Given the description of an element on the screen output the (x, y) to click on. 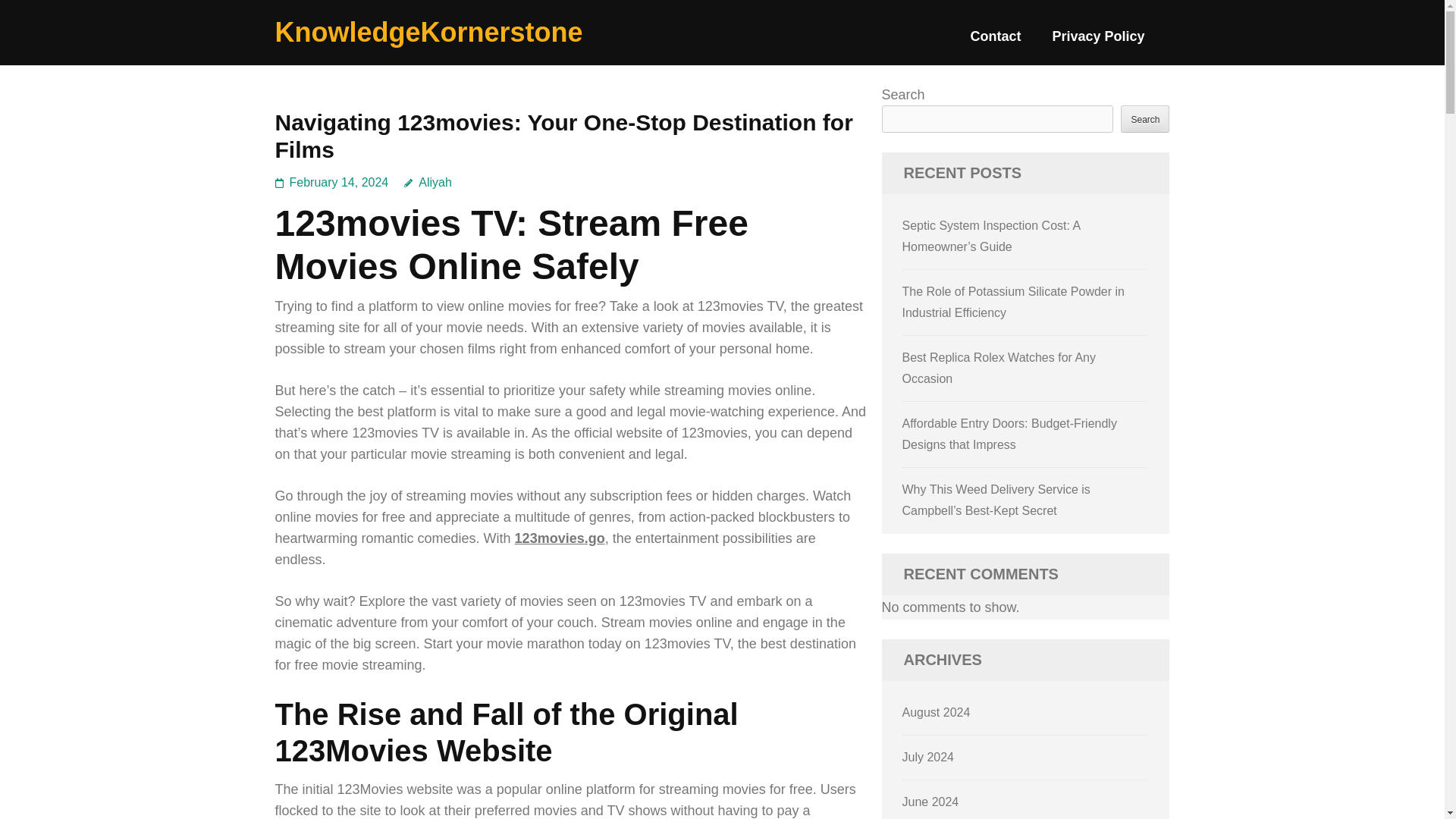
July 2024 (928, 757)
Affordable Entry Doors: Budget-Friendly Designs that Impress (1009, 433)
August 2024 (936, 712)
Aliyah (427, 182)
123movies.go (560, 538)
KnowledgeKornerstone (428, 31)
February 14, 2024 (338, 182)
Contact (994, 42)
June 2024 (930, 801)
